Given the description of an element on the screen output the (x, y) to click on. 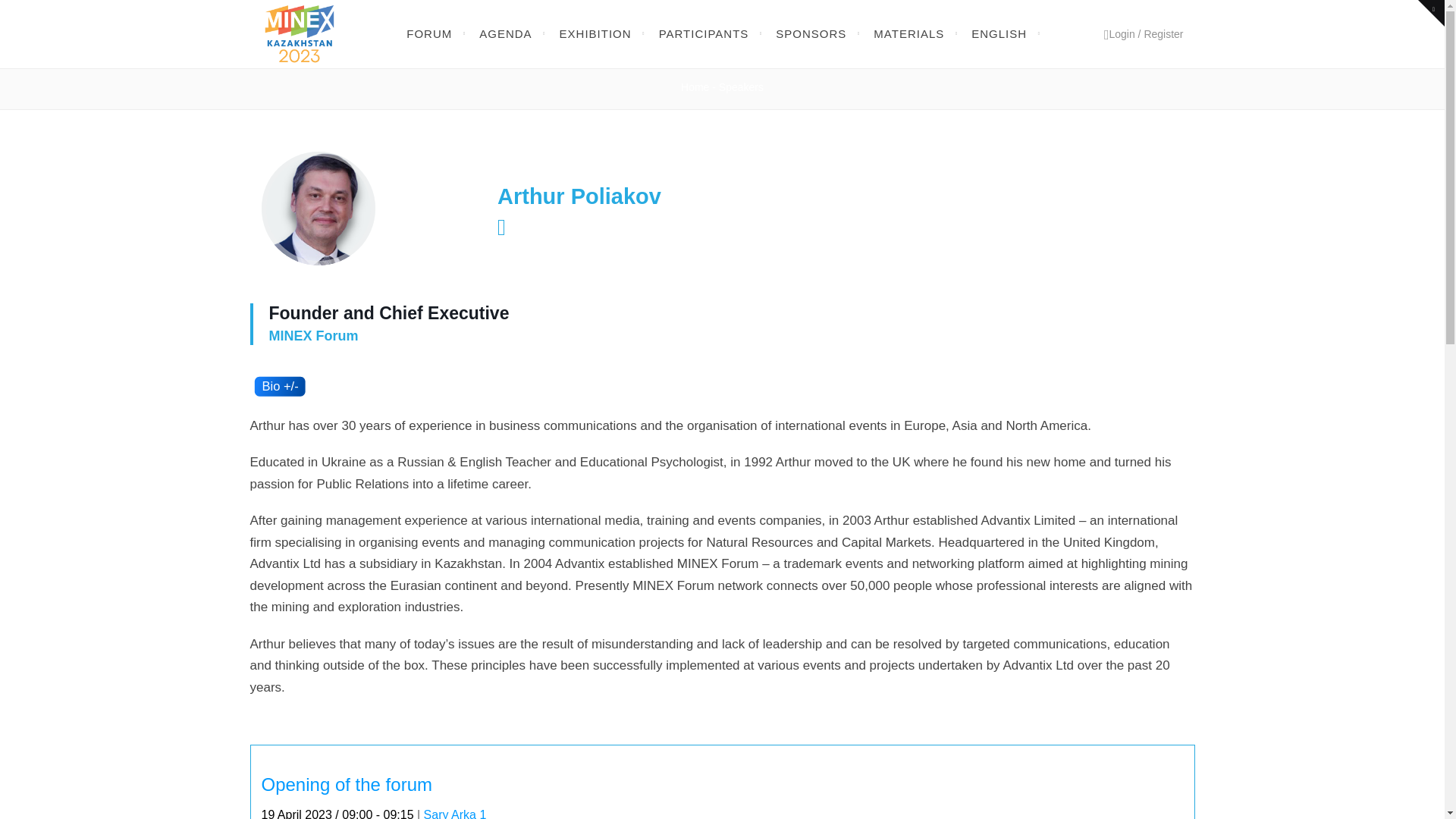
EXHIBITION (595, 34)
AGENDA (504, 34)
FORUM (429, 34)
